Given the description of an element on the screen output the (x, y) to click on. 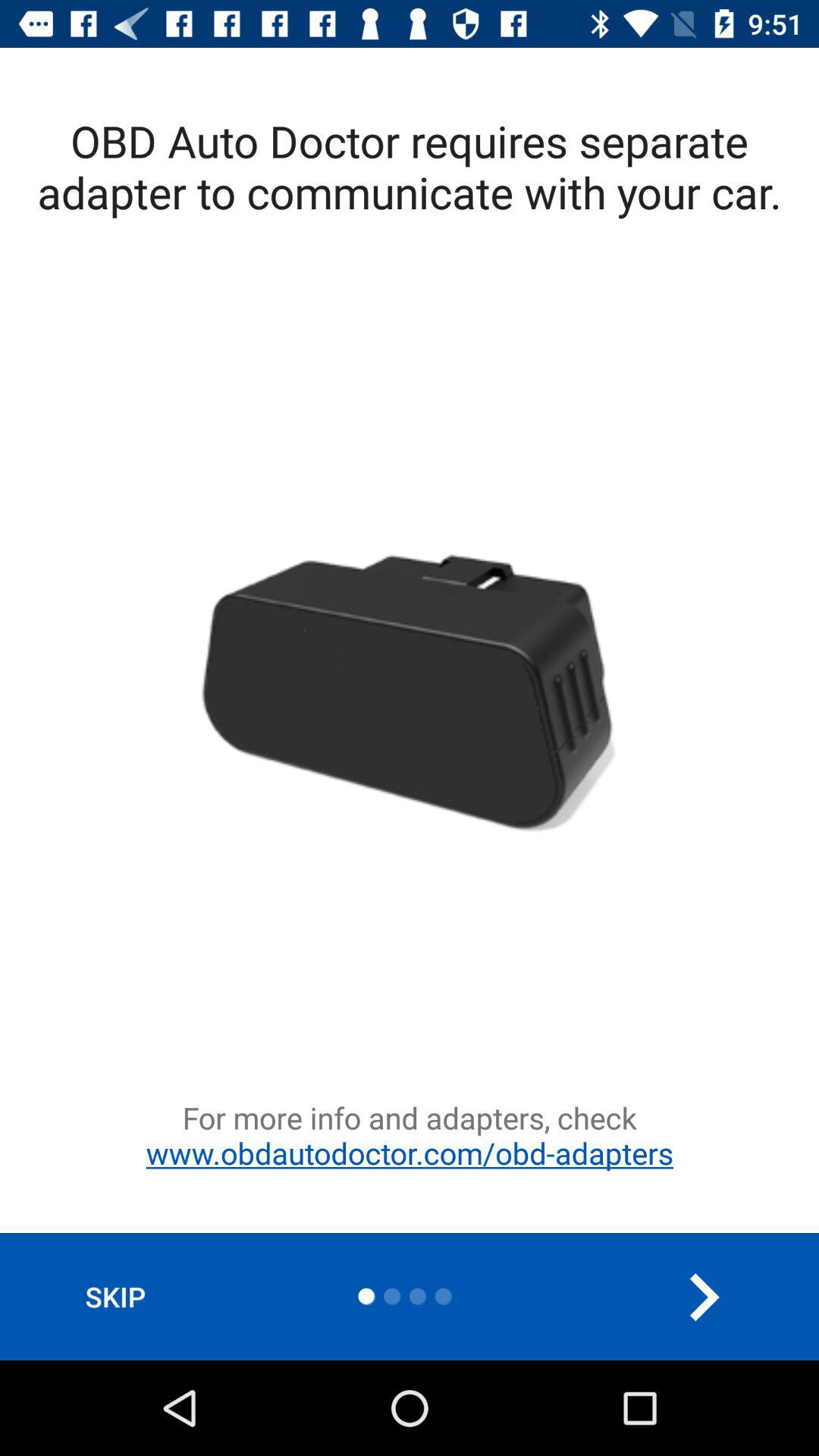
open the item at the bottom left corner (114, 1296)
